Given the description of an element on the screen output the (x, y) to click on. 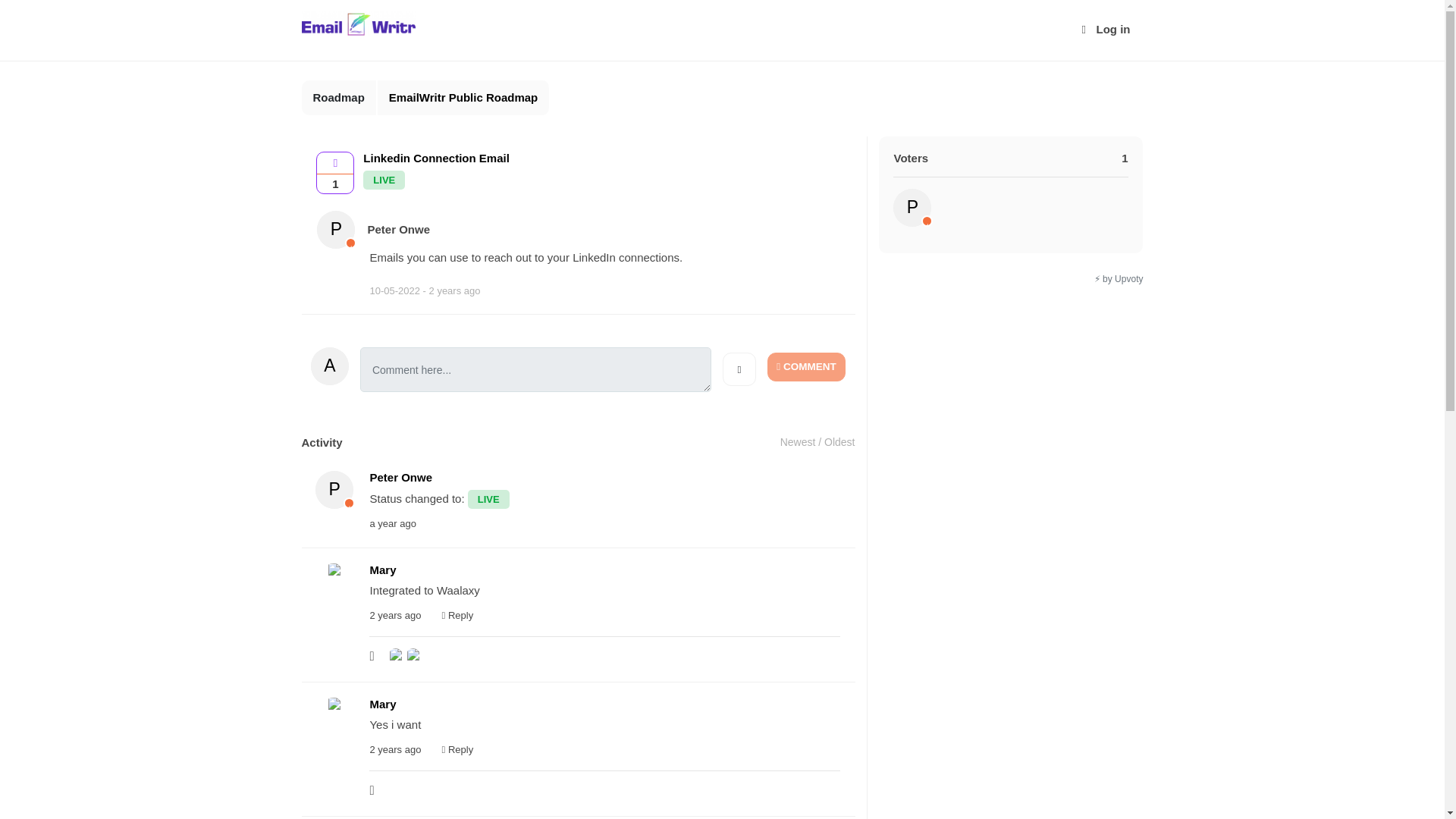
Roadmap (339, 98)
Peter Onwe (336, 229)
Reply (457, 749)
Mary (334, 582)
Peter Onwe (912, 207)
Kasra Moghaddam (395, 655)
Show newest comments first (797, 441)
10-05-2022 08:59 (424, 290)
Mary (413, 655)
COMMENT (806, 366)
Roadmap (339, 98)
Show oldest comments first (839, 441)
21-09-2022 06:32 (394, 749)
Reply (457, 615)
Peter Onwe (334, 489)
